Given the description of an element on the screen output the (x, y) to click on. 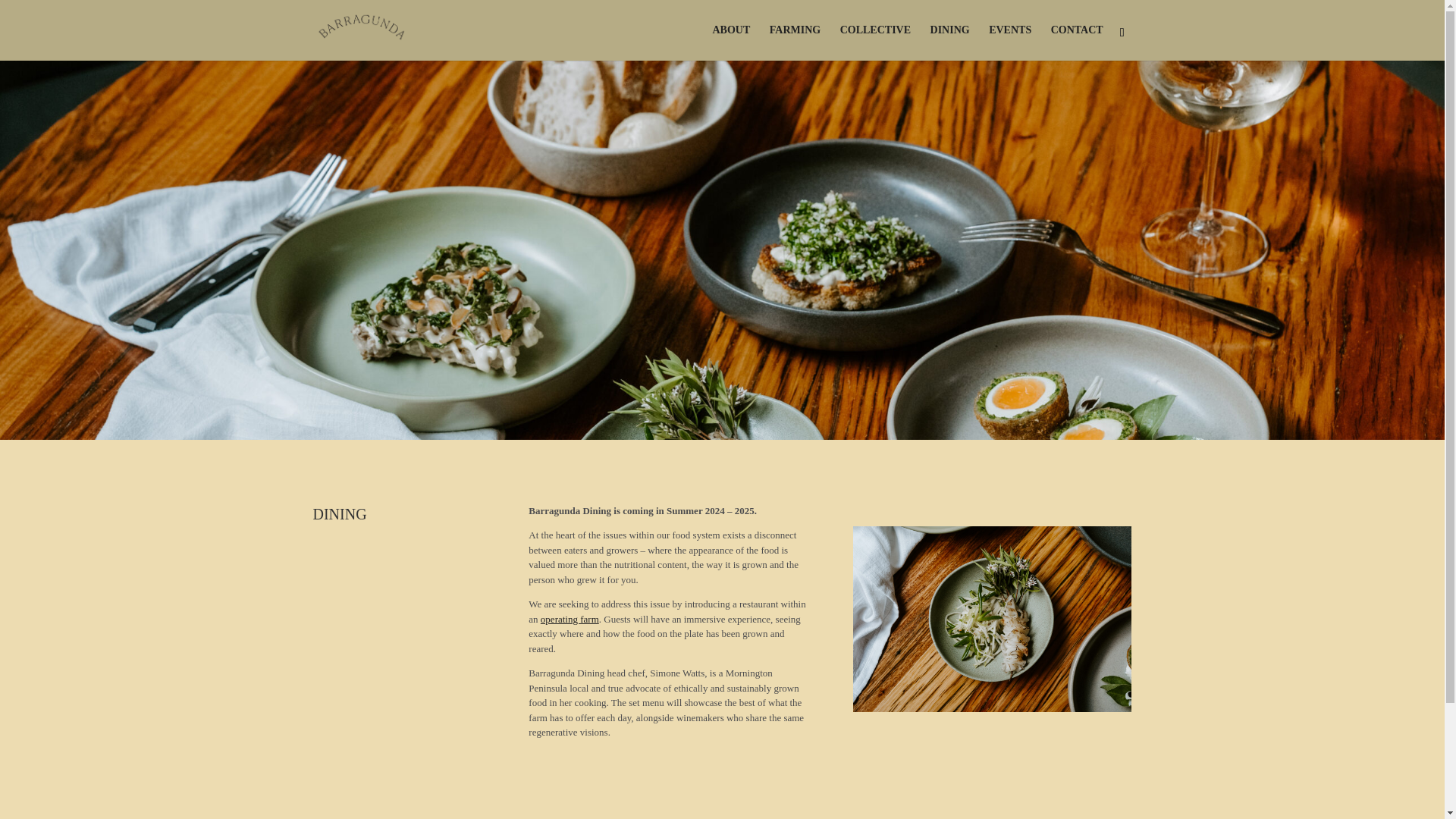
DINING (949, 42)
ABOUT (730, 42)
FARMING (795, 42)
HALF MOON BRIGHTON - BARRAGUNDA LUNCH (992, 618)
EVENTS (1009, 42)
COLLECTIVE (875, 42)
operating farm (569, 618)
CONTACT (1077, 42)
